Given the description of an element on the screen output the (x, y) to click on. 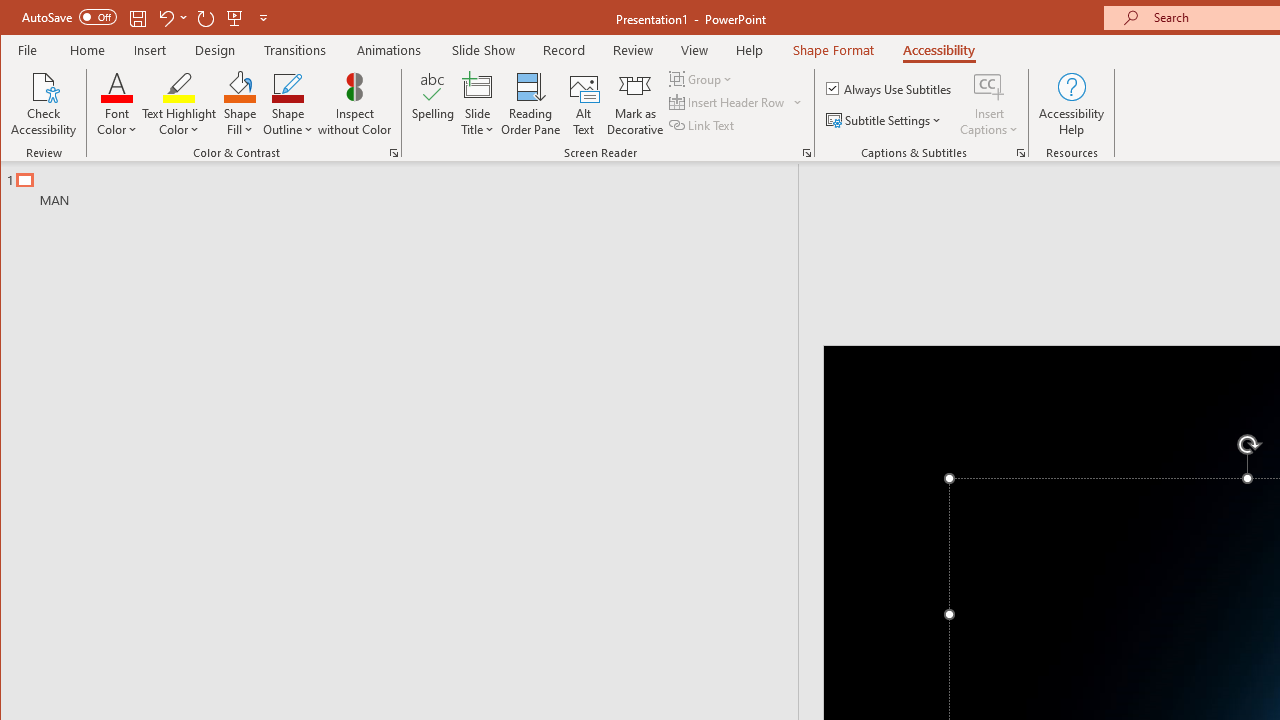
Subtitle Settings (885, 119)
Always Use Subtitles (890, 88)
Insert Header Row (728, 101)
Spelling... (432, 104)
Inspect without Color (355, 104)
